Given the description of an element on the screen output the (x, y) to click on. 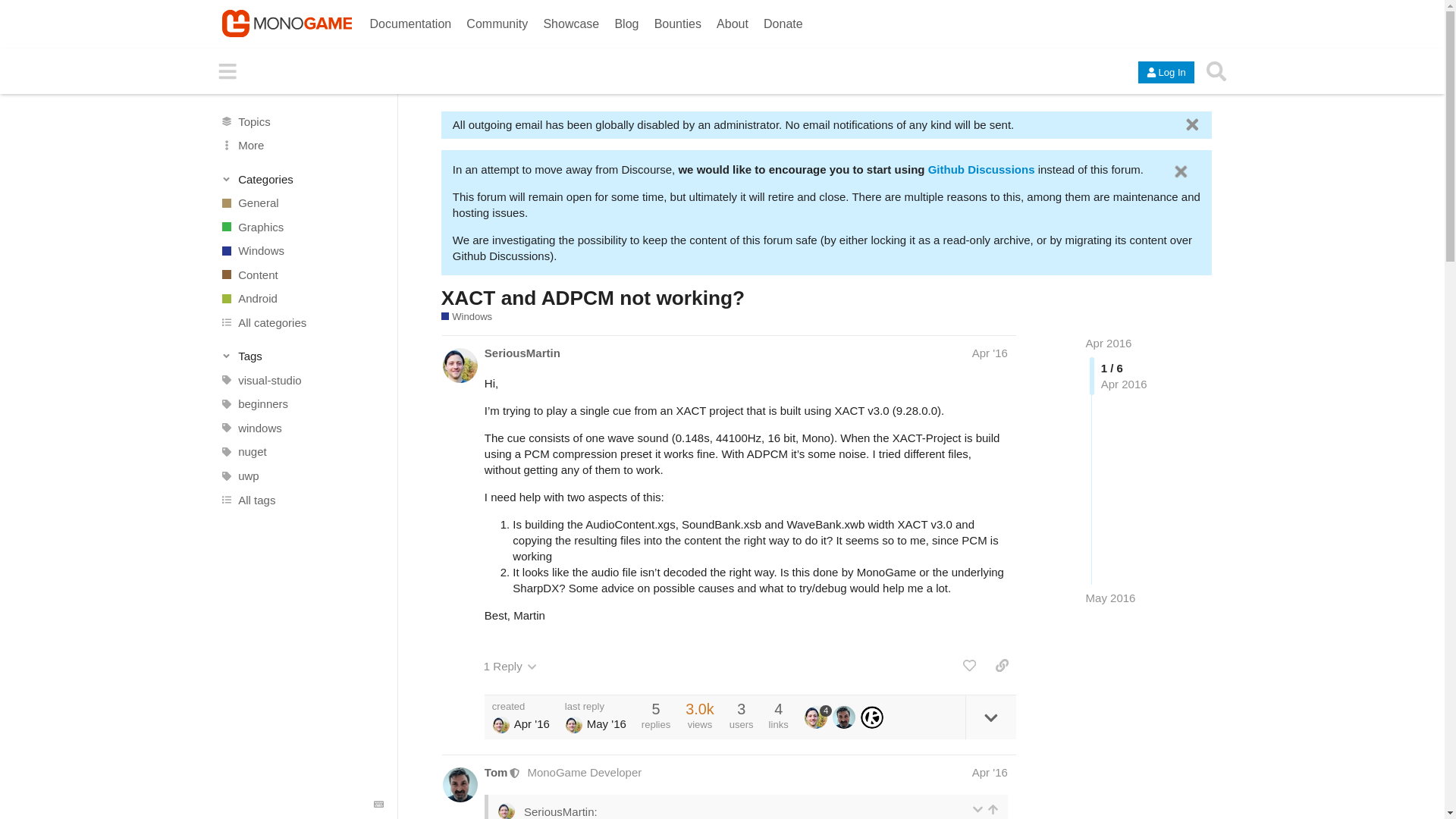
About (732, 19)
A place to discuss using MonoGame on the Android platform. (301, 298)
All topics (301, 120)
Bounties (677, 19)
Sidebar (227, 71)
Tags (301, 355)
XACT and ADPCM not working? (592, 297)
Content (301, 274)
Blog (626, 19)
All categories (301, 322)
General (301, 202)
Keyboard Shortcuts (378, 805)
Categories (301, 178)
Search (1215, 71)
Toggle section (301, 178)
